Given the description of an element on the screen output the (x, y) to click on. 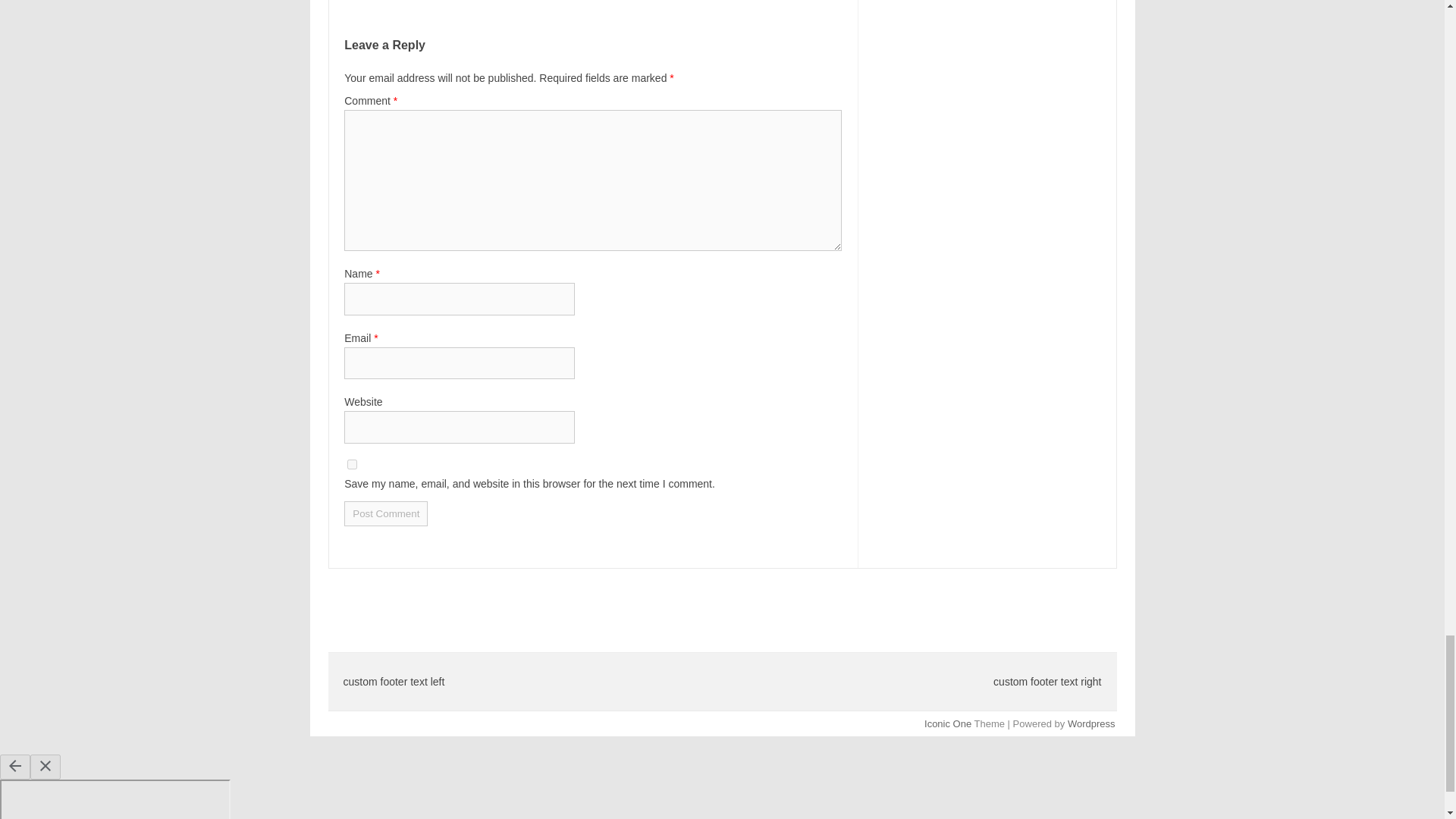
Post Comment (385, 513)
Wordpress (1091, 723)
Iconic One (947, 723)
yes (351, 464)
Post Comment (385, 513)
